Given the description of an element on the screen output the (x, y) to click on. 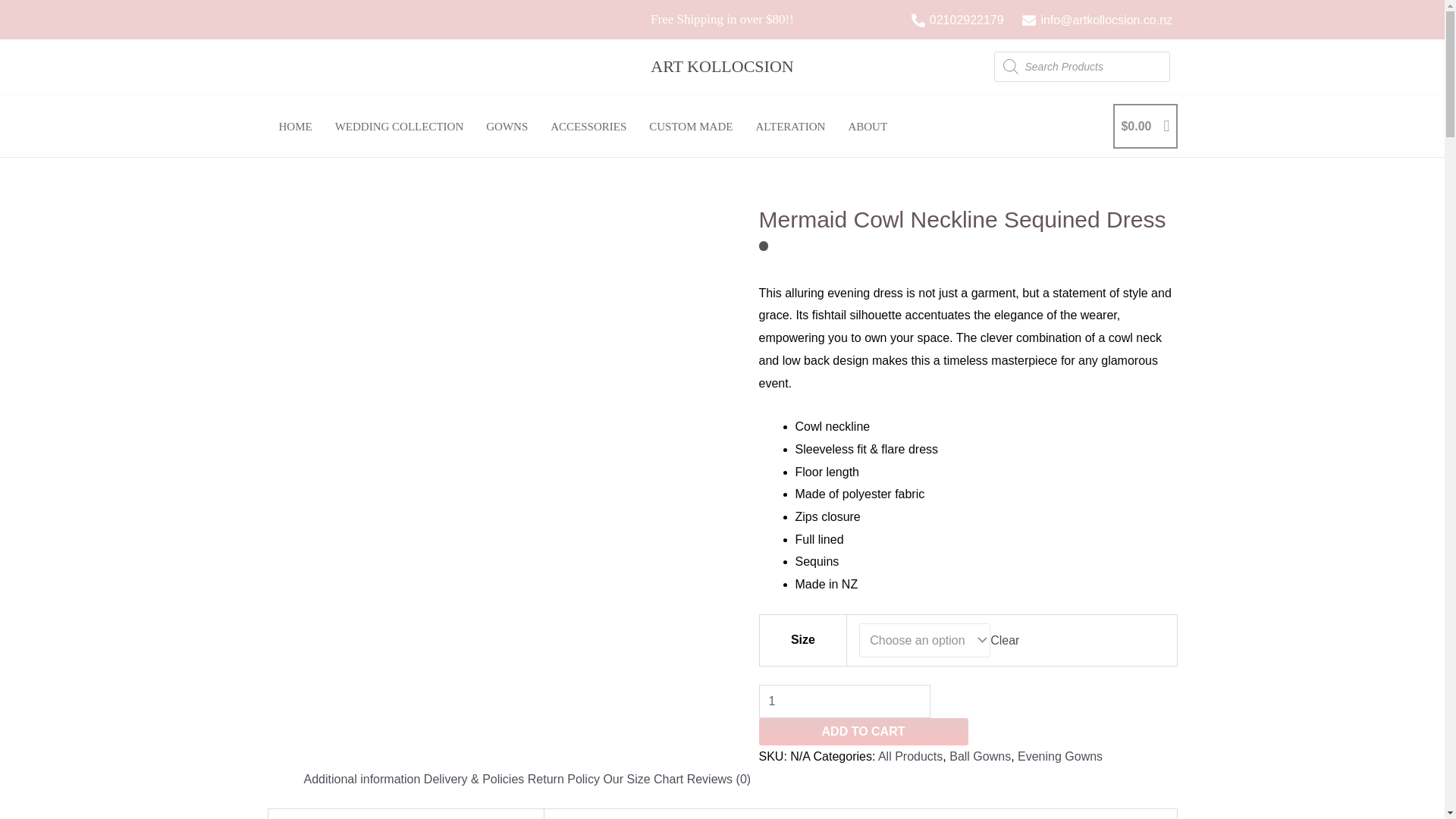
WEDDING COLLECTION (399, 126)
1 (844, 701)
02102922179 (957, 20)
HOME (294, 126)
ART KOLLOCSION (721, 66)
ACCESSORIES (587, 126)
CUSTOM MADE (690, 126)
GOWNS (506, 126)
ALTERATION (789, 126)
ABOUT (866, 126)
